Given the description of an element on the screen output the (x, y) to click on. 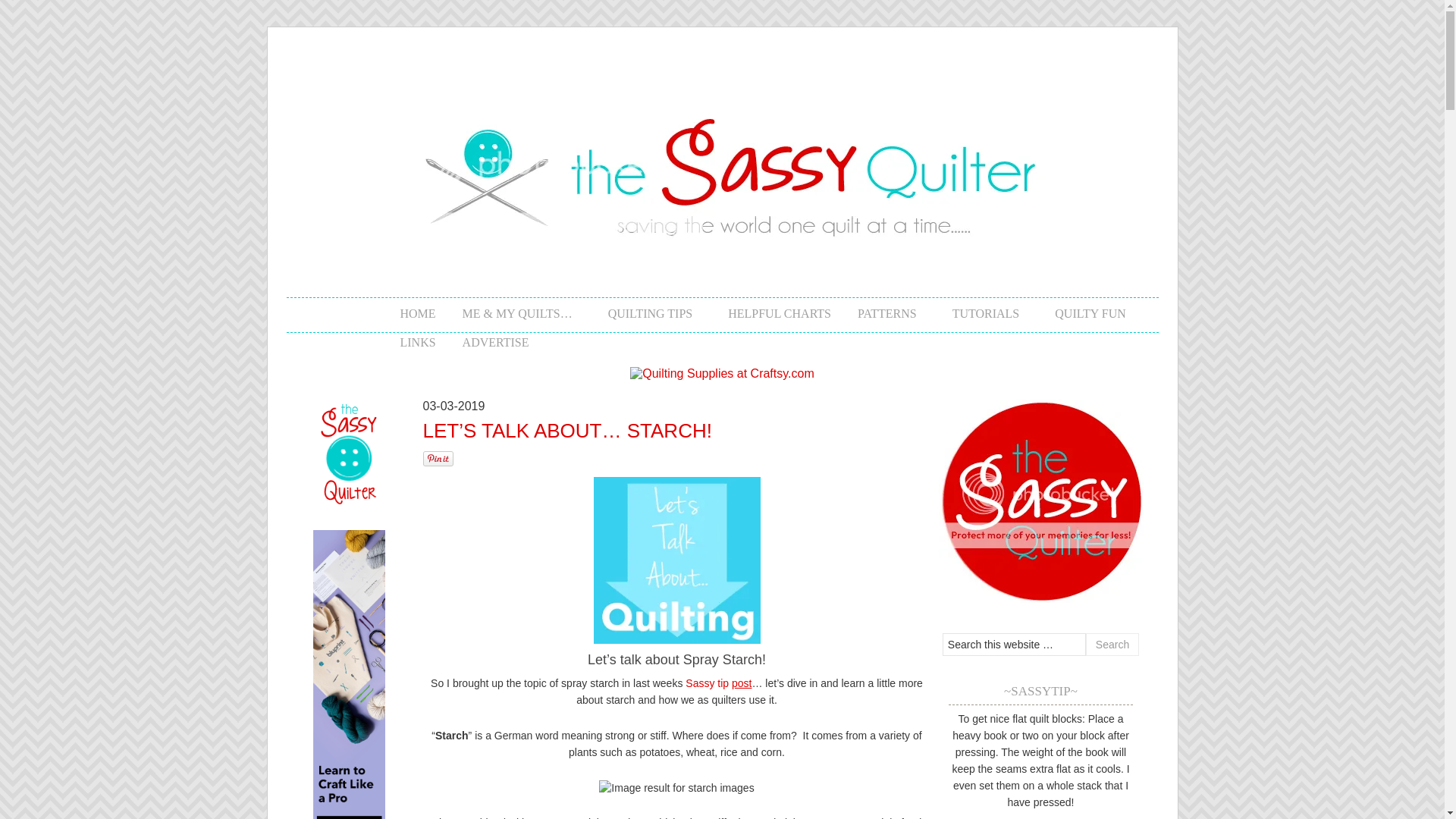
ADVERTISE (482, 340)
LINKS (403, 340)
PATTERNS (878, 312)
Search (1112, 644)
QUILTY FUN (1080, 312)
HOME (403, 312)
Pin It (437, 458)
Search (1112, 644)
HELPFUL CHARTS (766, 312)
The Sassy Quilter (721, 287)
QUILTING TIPS (640, 312)
TUTORIALS (977, 312)
